Given the description of an element on the screen output the (x, y) to click on. 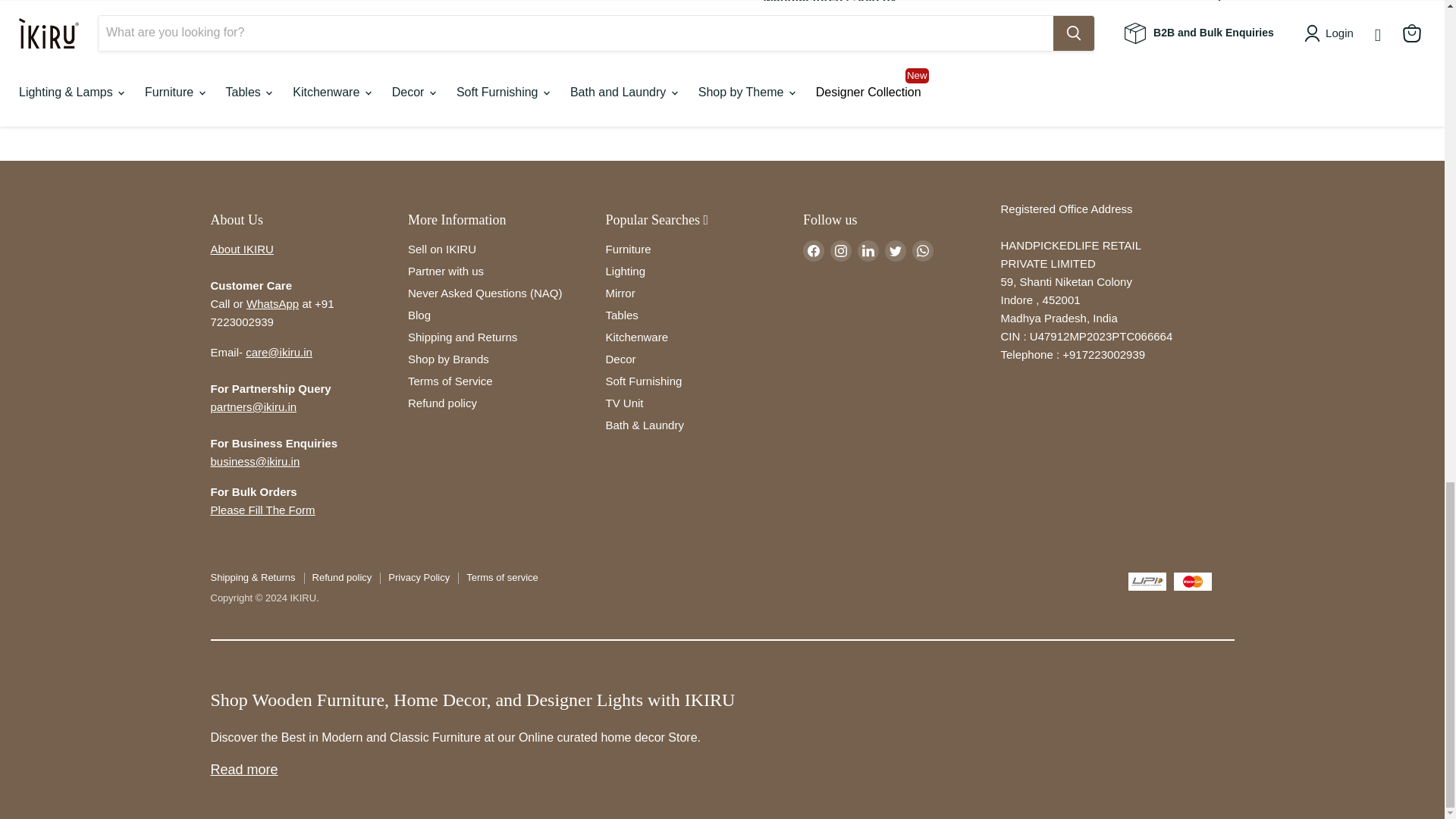
Instagram (840, 250)
Facebook (813, 250)
Twitter (895, 250)
WhatsApp (922, 250)
LinkedIn (868, 250)
About us (242, 248)
